Given the description of an element on the screen output the (x, y) to click on. 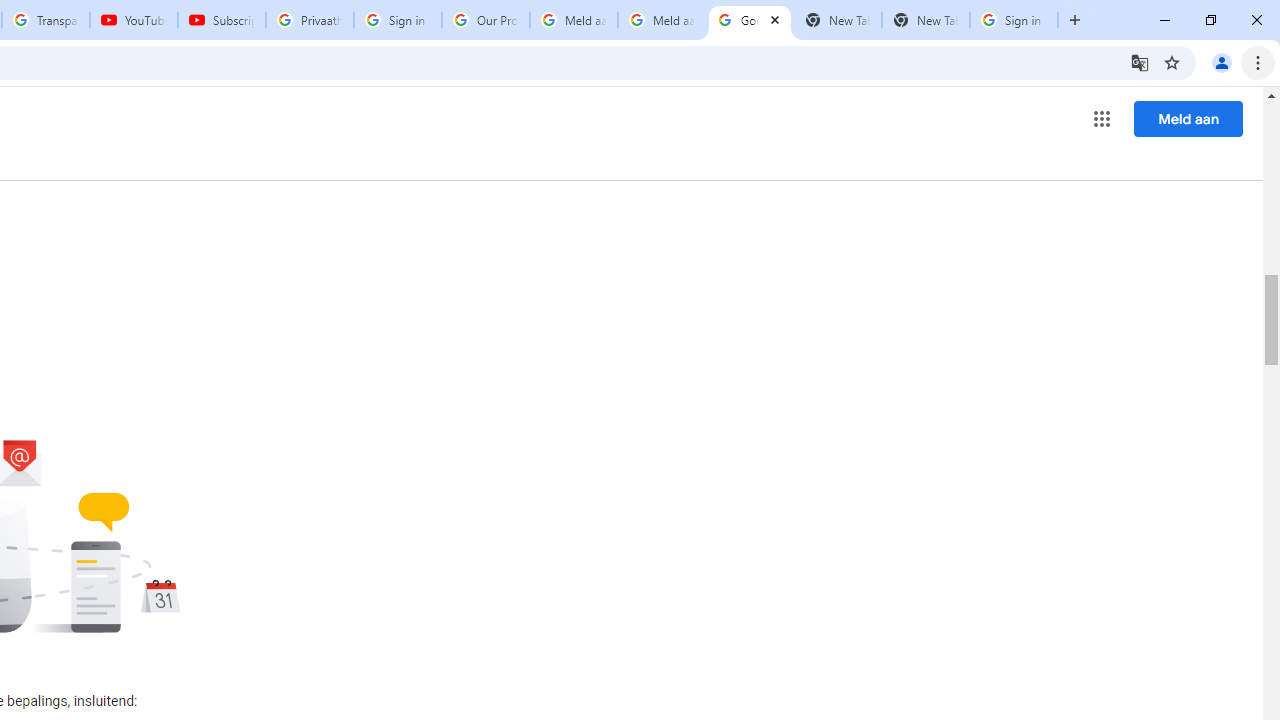
Subscriptions - YouTube (221, 20)
Sign in - Google Accounts (1014, 20)
dienste (306, 142)
New Tab (925, 20)
